Given the description of an element on the screen output the (x, y) to click on. 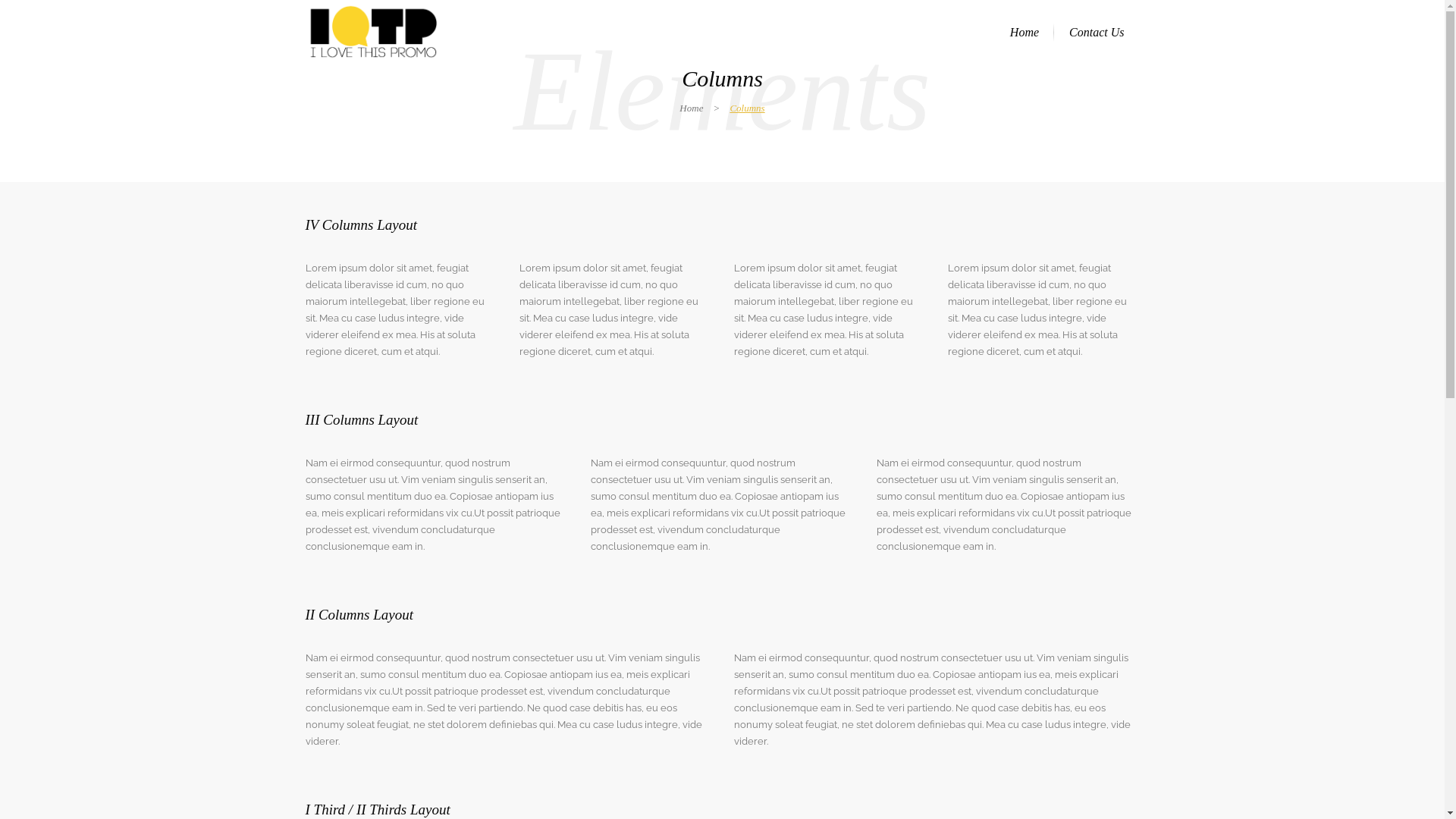
Home Element type: text (690, 107)
Home Element type: text (1024, 32)
Contact Us Element type: text (1096, 32)
